Given the description of an element on the screen output the (x, y) to click on. 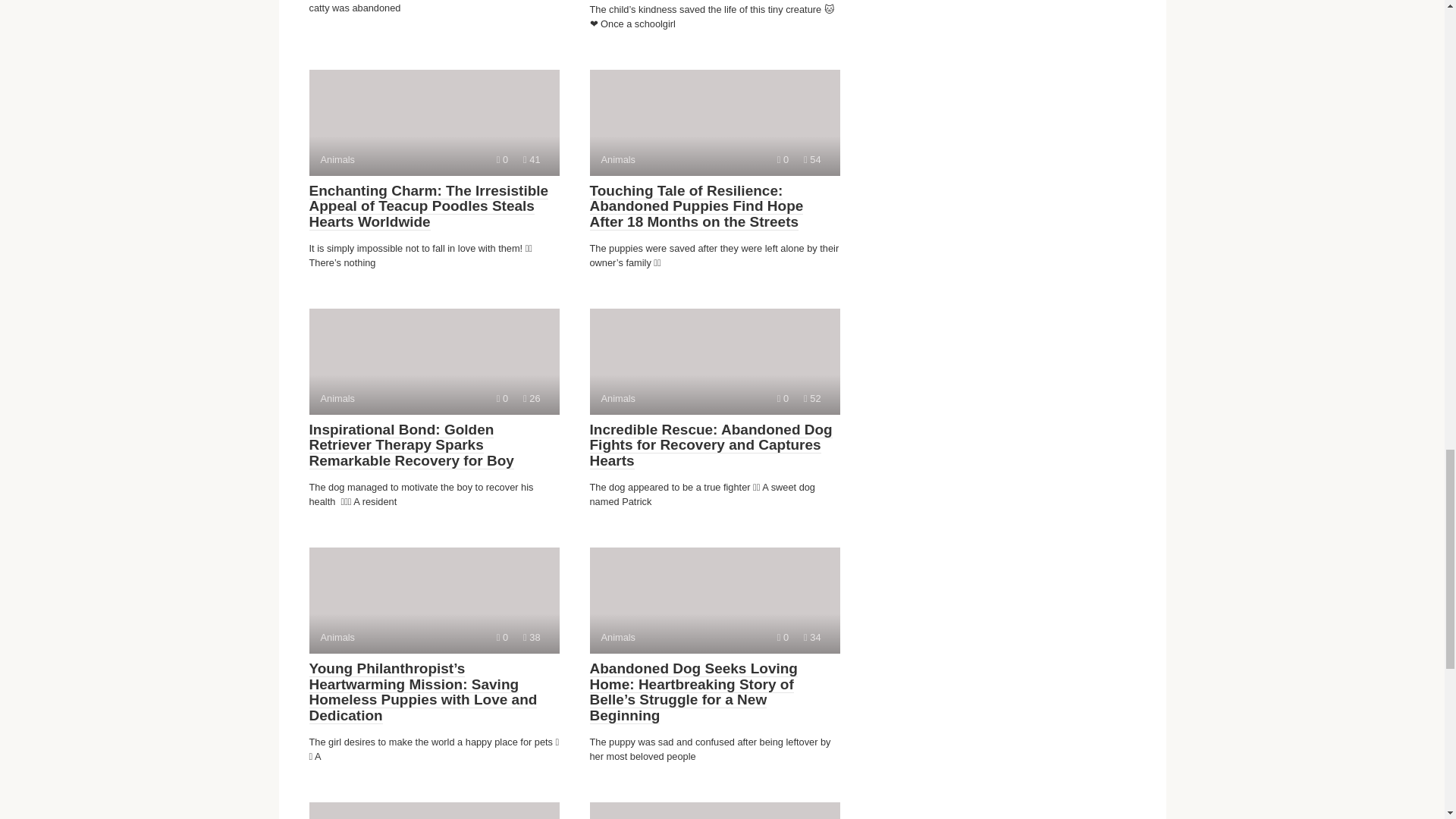
Comments (783, 398)
Comments (502, 636)
Comments (714, 122)
Comments (714, 600)
